Given the description of an element on the screen output the (x, y) to click on. 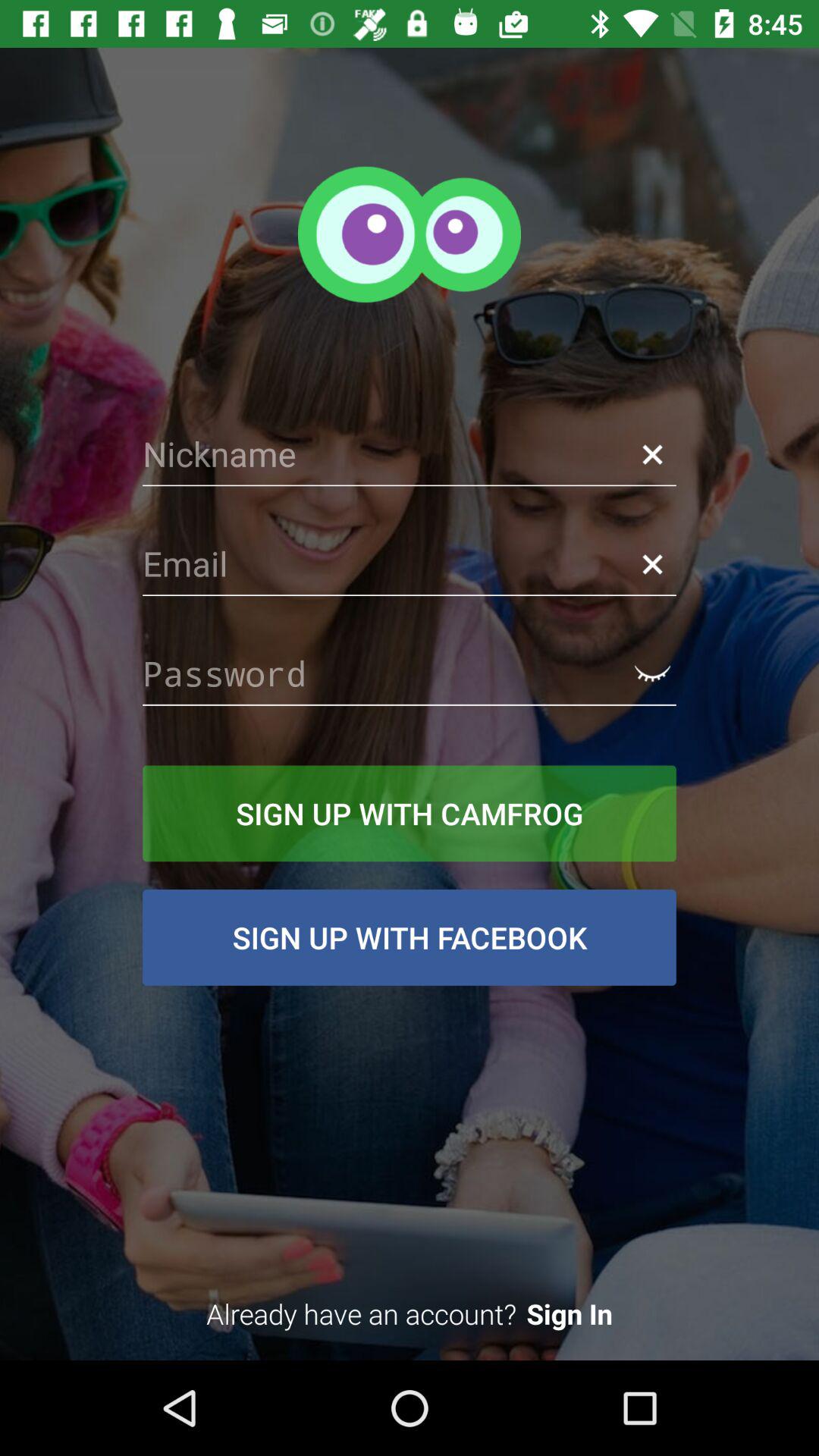
clear username (652, 454)
